Given the description of an element on the screen output the (x, y) to click on. 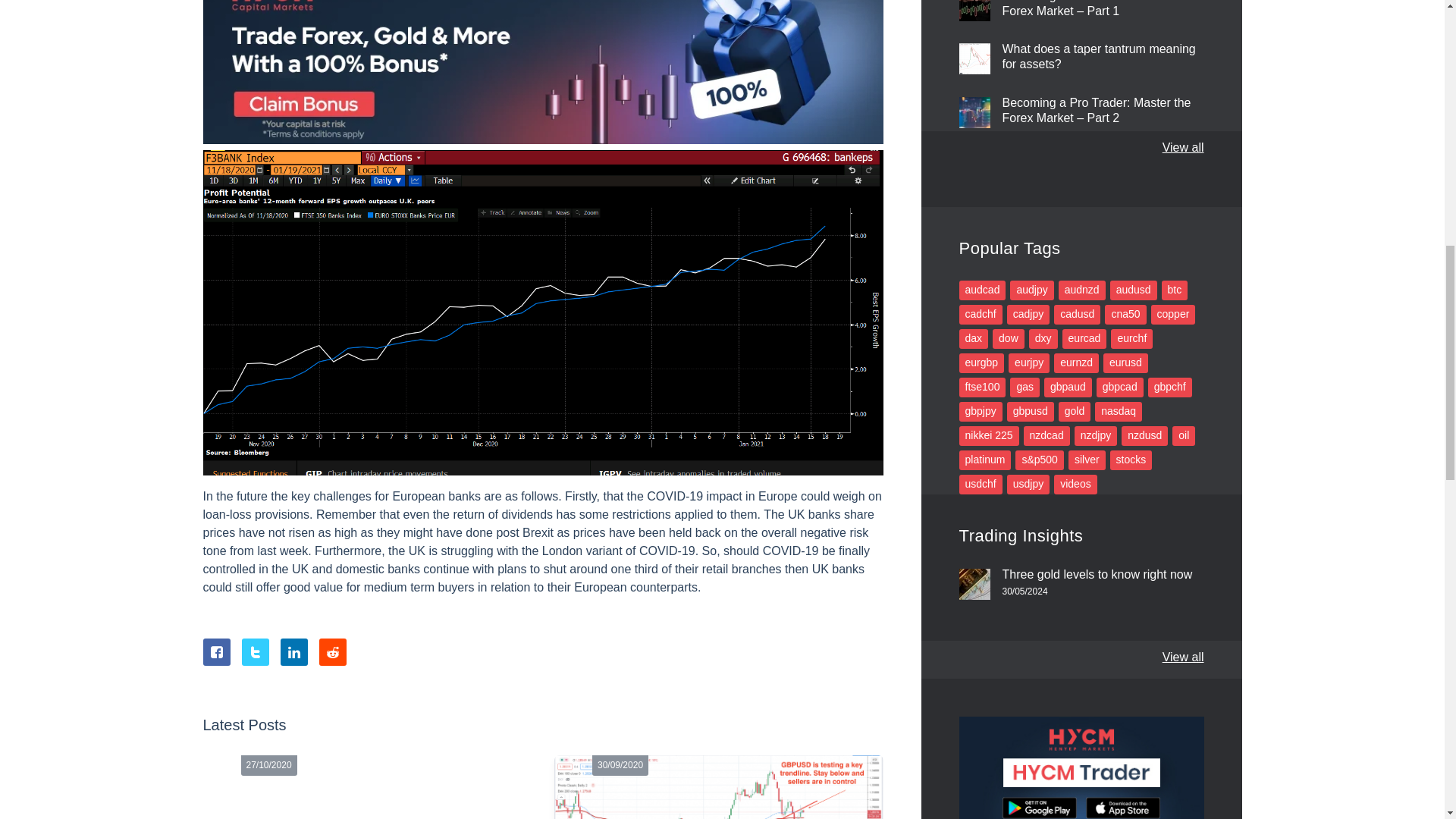
View all (1182, 656)
View all (1182, 146)
